Given the description of an element on the screen output the (x, y) to click on. 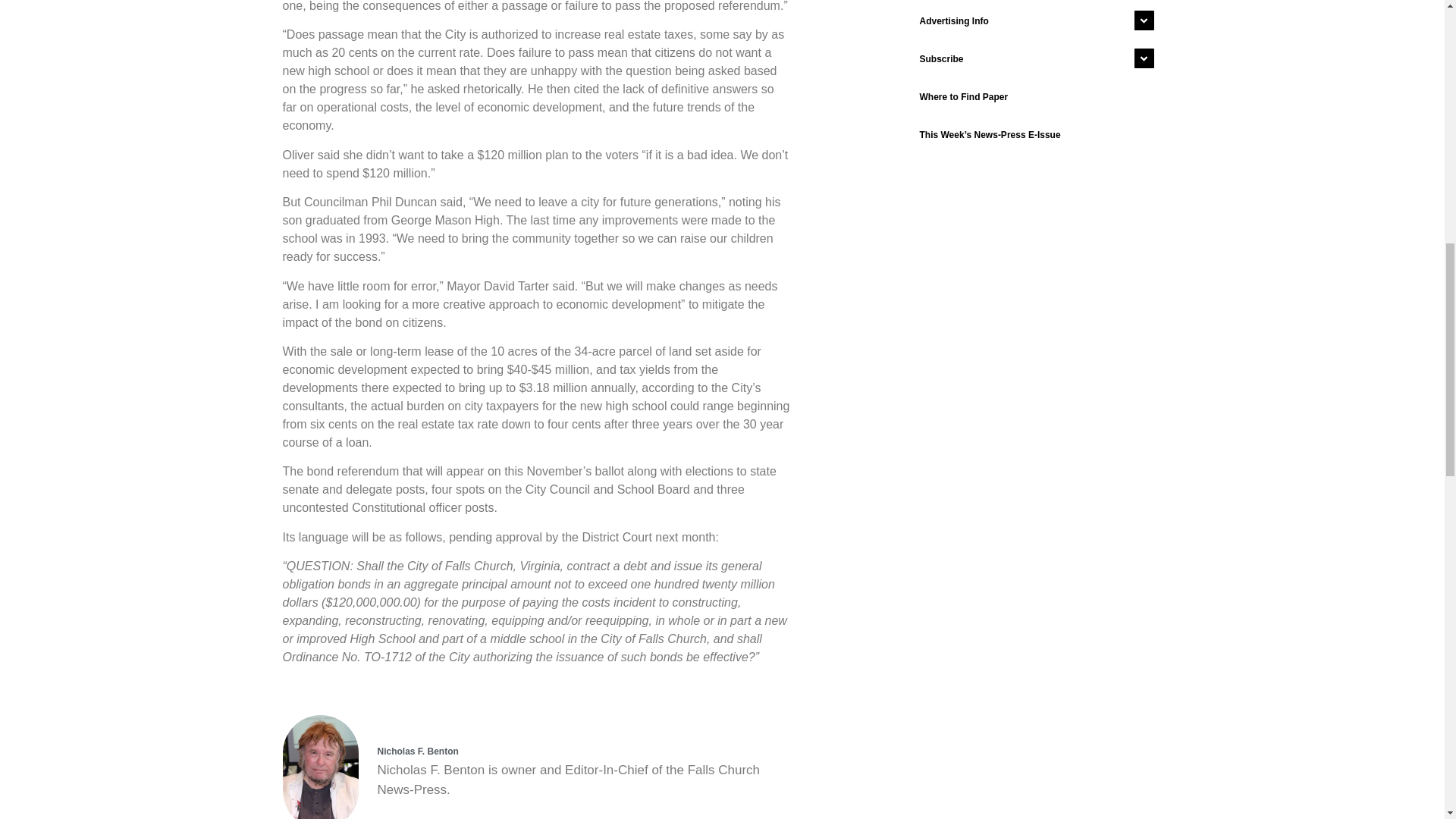
Subscribe (1032, 58)
Advertising Info (1032, 21)
